Given the description of an element on the screen output the (x, y) to click on. 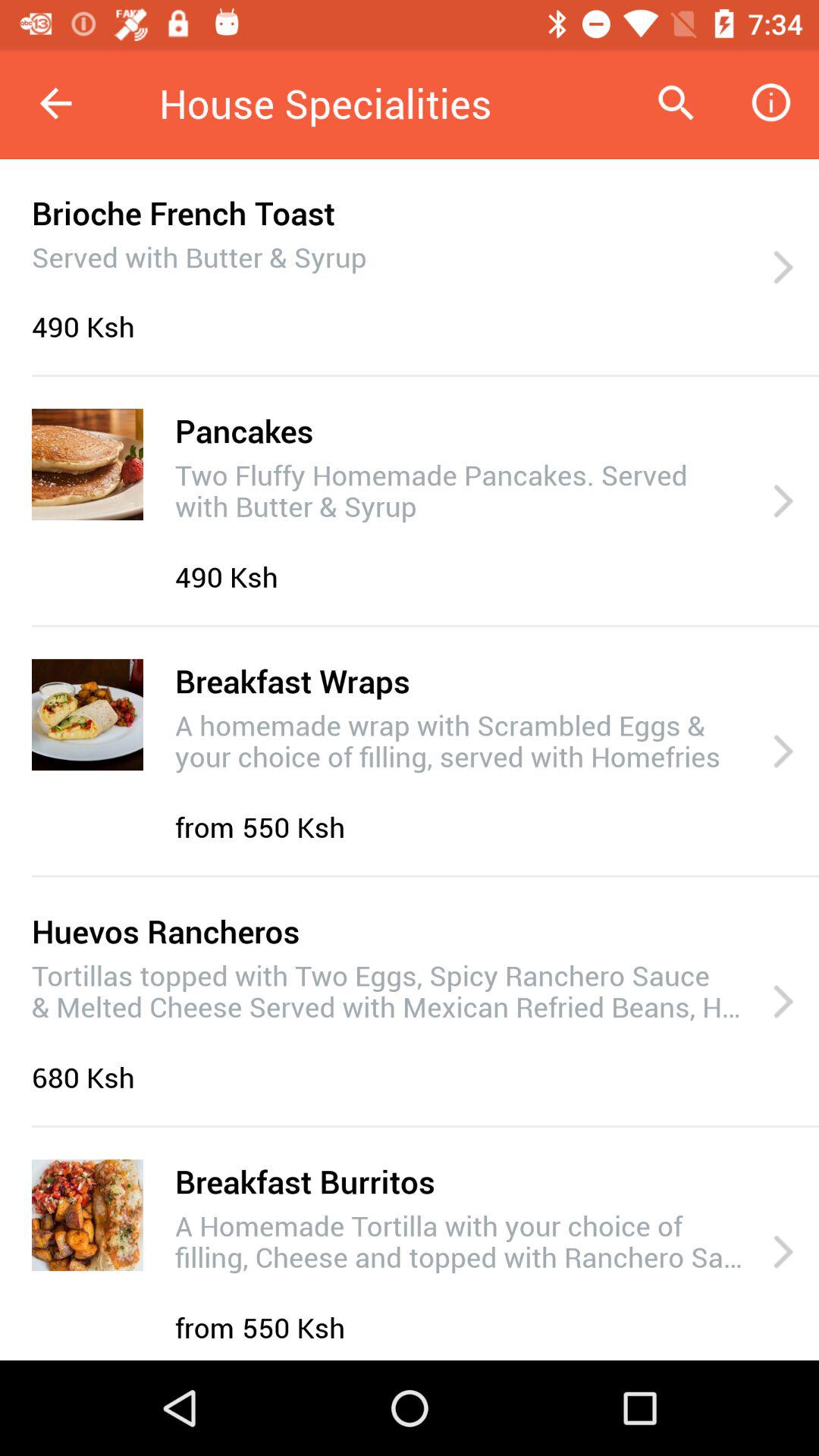
tap item next to two fluffy homemade item (783, 501)
